Given the description of an element on the screen output the (x, y) to click on. 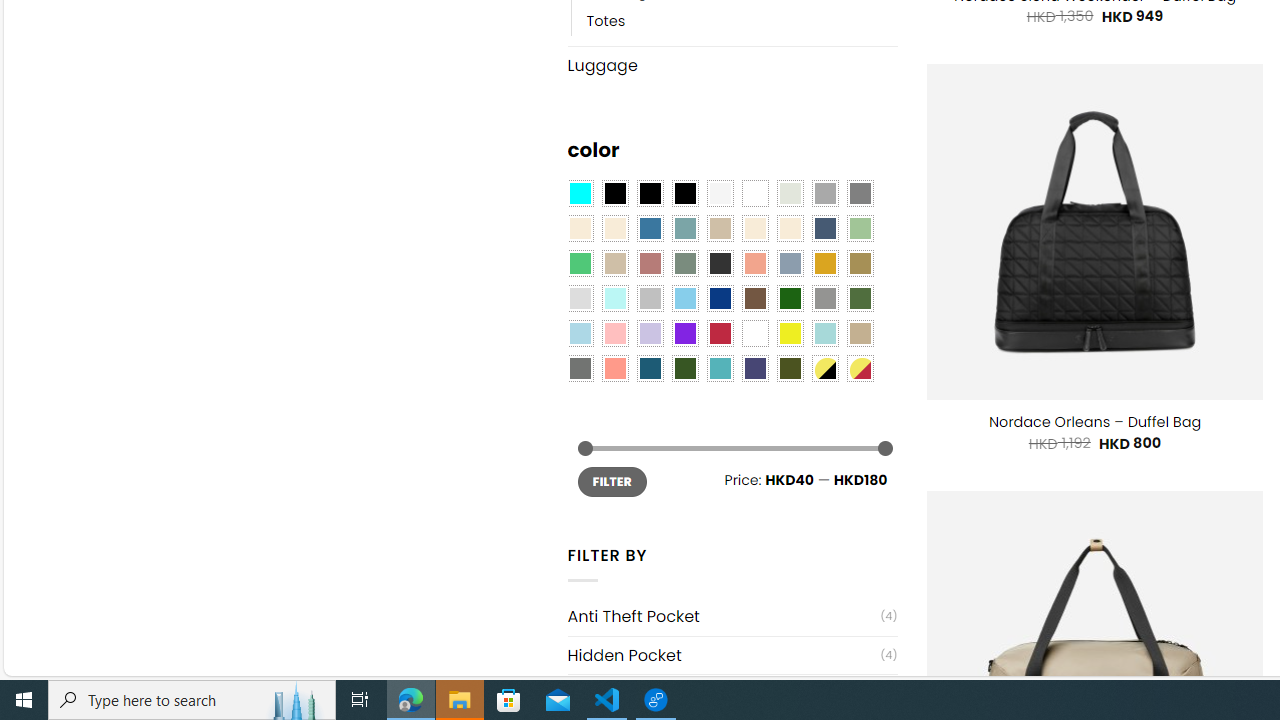
Rose (650, 264)
Luggage (732, 64)
Yellow-Red (859, 368)
Aqua Blue (579, 193)
FILTER (612, 481)
Navy Blue (719, 298)
Light Gray (579, 298)
Kelp (859, 264)
Laptop Sleeve(3) (732, 693)
All Black (614, 193)
Brownie (719, 228)
Coral (755, 264)
Gray (824, 298)
Totes (742, 20)
